Given the description of an element on the screen output the (x, y) to click on. 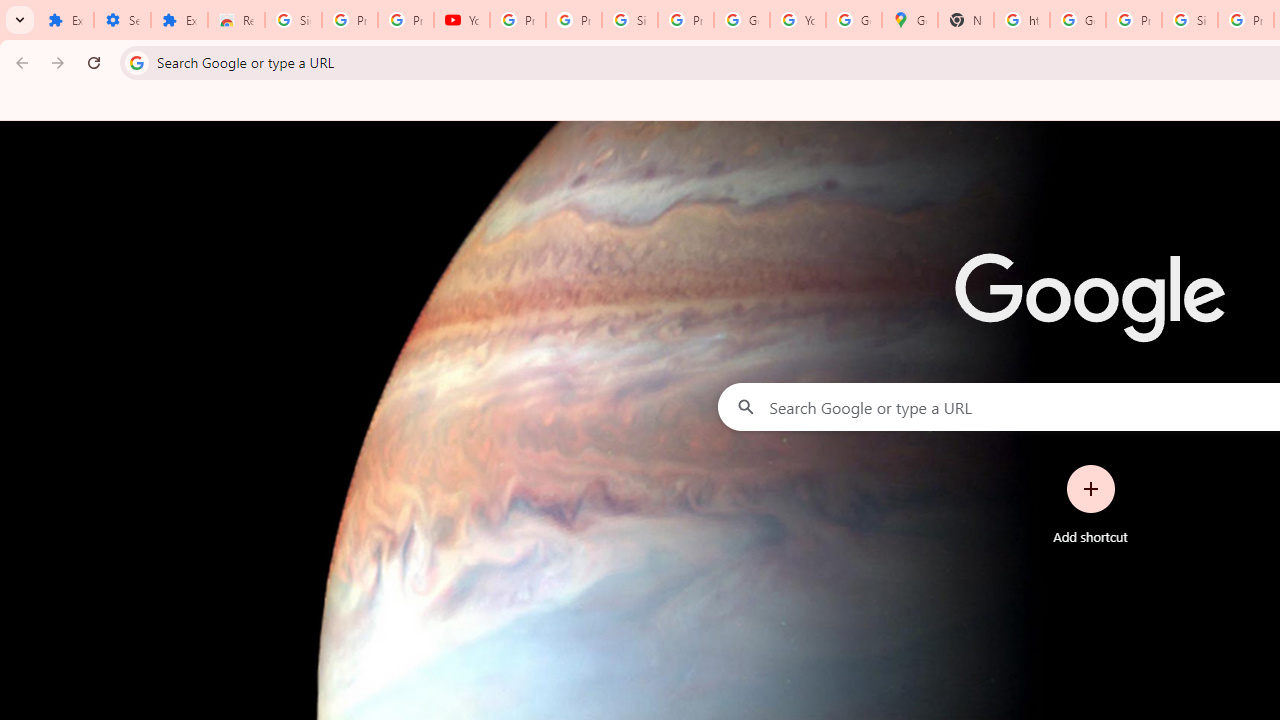
Sign in - Google Accounts (1190, 20)
Google Account (742, 20)
https://scholar.google.com/ (1021, 20)
Sign in - Google Accounts (629, 20)
New Tab (966, 20)
